Given the description of an element on the screen output the (x, y) to click on. 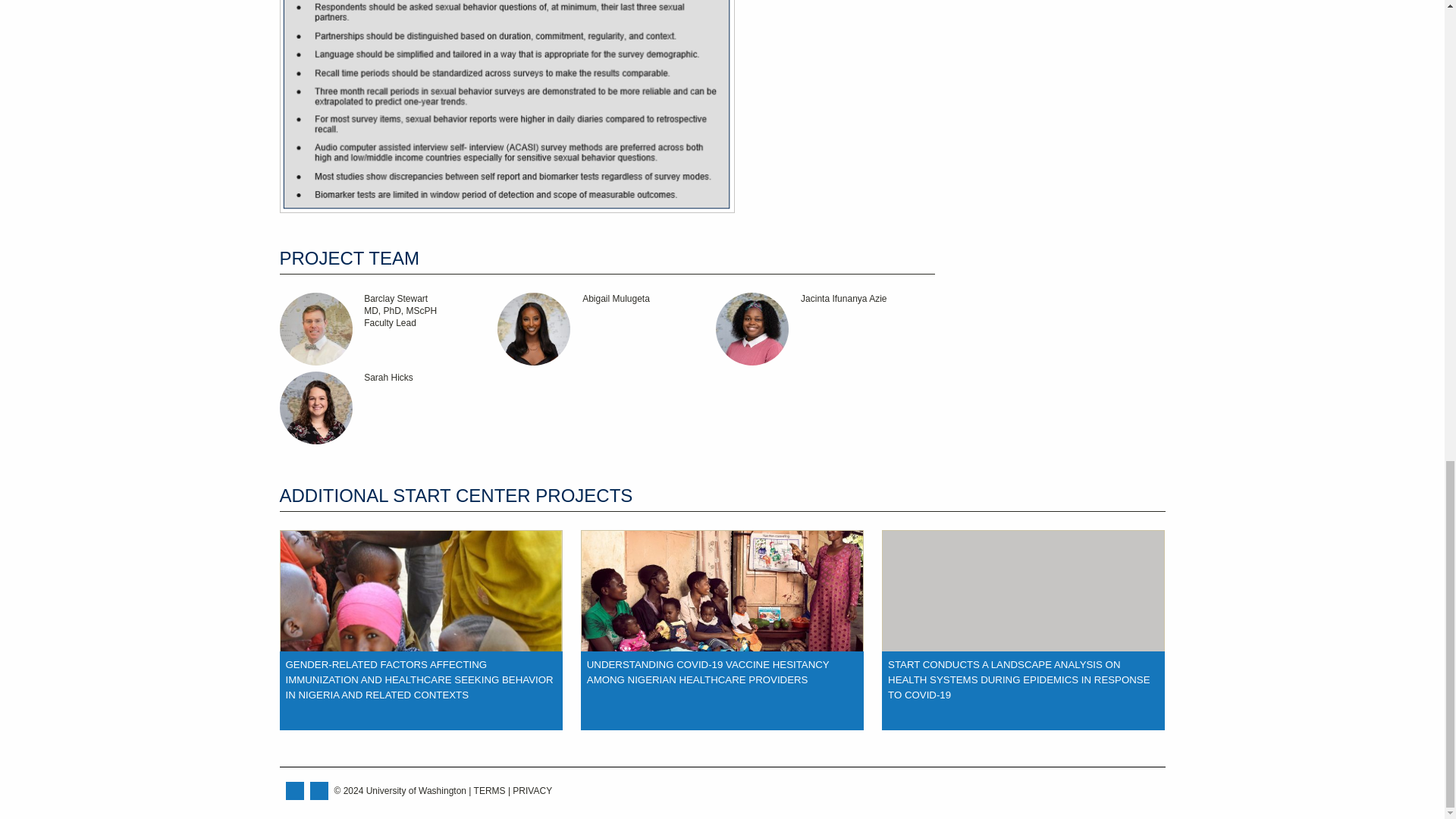
START Center on LinkedIn (293, 791)
PRIVACY (388, 328)
Jacinta Ifunanya Azie (531, 790)
University of Washington (825, 328)
Abigail Mulugeta (1128, 790)
Sarah Hicks (606, 328)
TERMS (388, 407)
START Center on Twitter (489, 790)
